Given the description of an element on the screen output the (x, y) to click on. 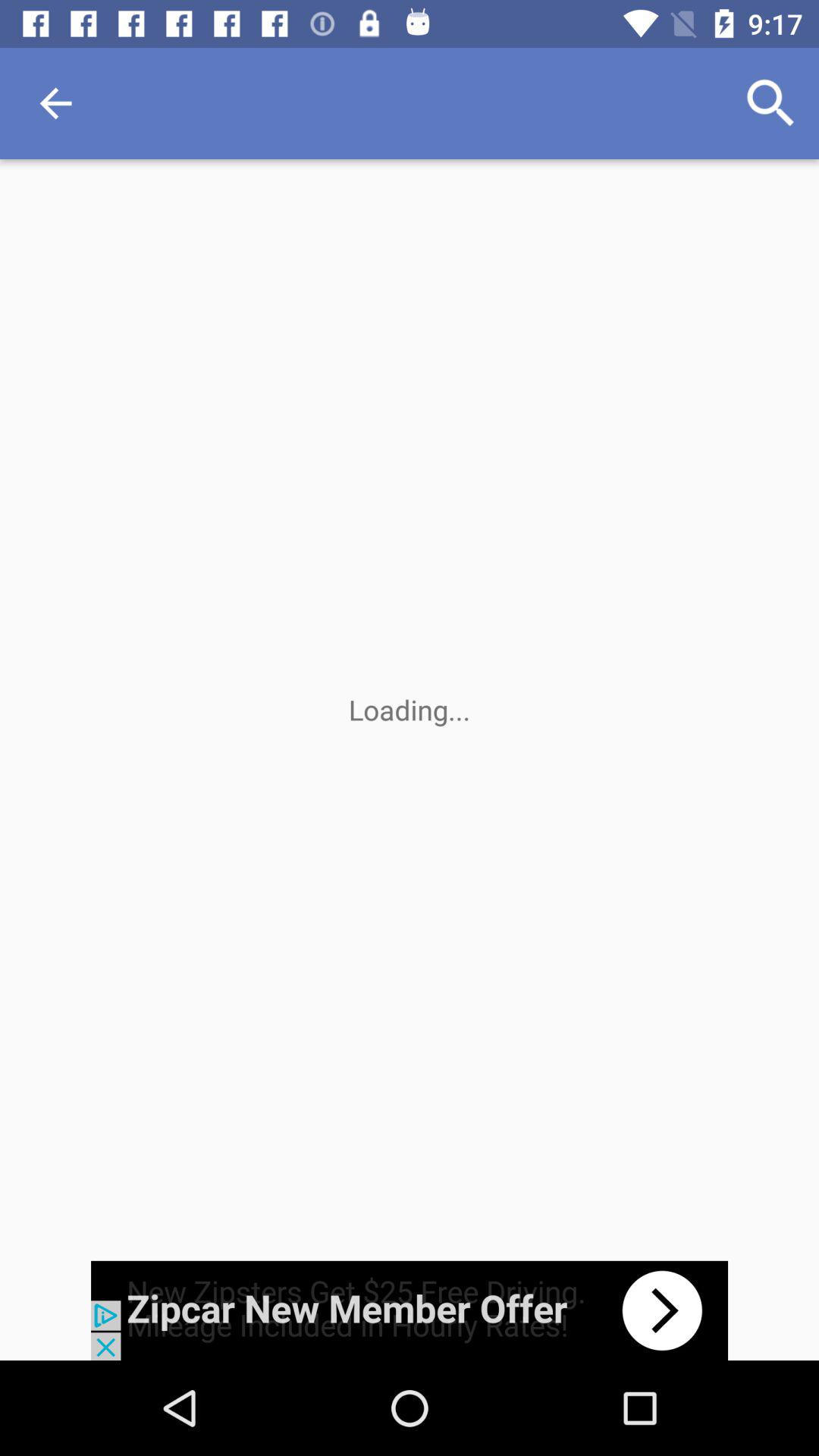
go to advertisement (409, 1310)
